Given the description of an element on the screen output the (x, y) to click on. 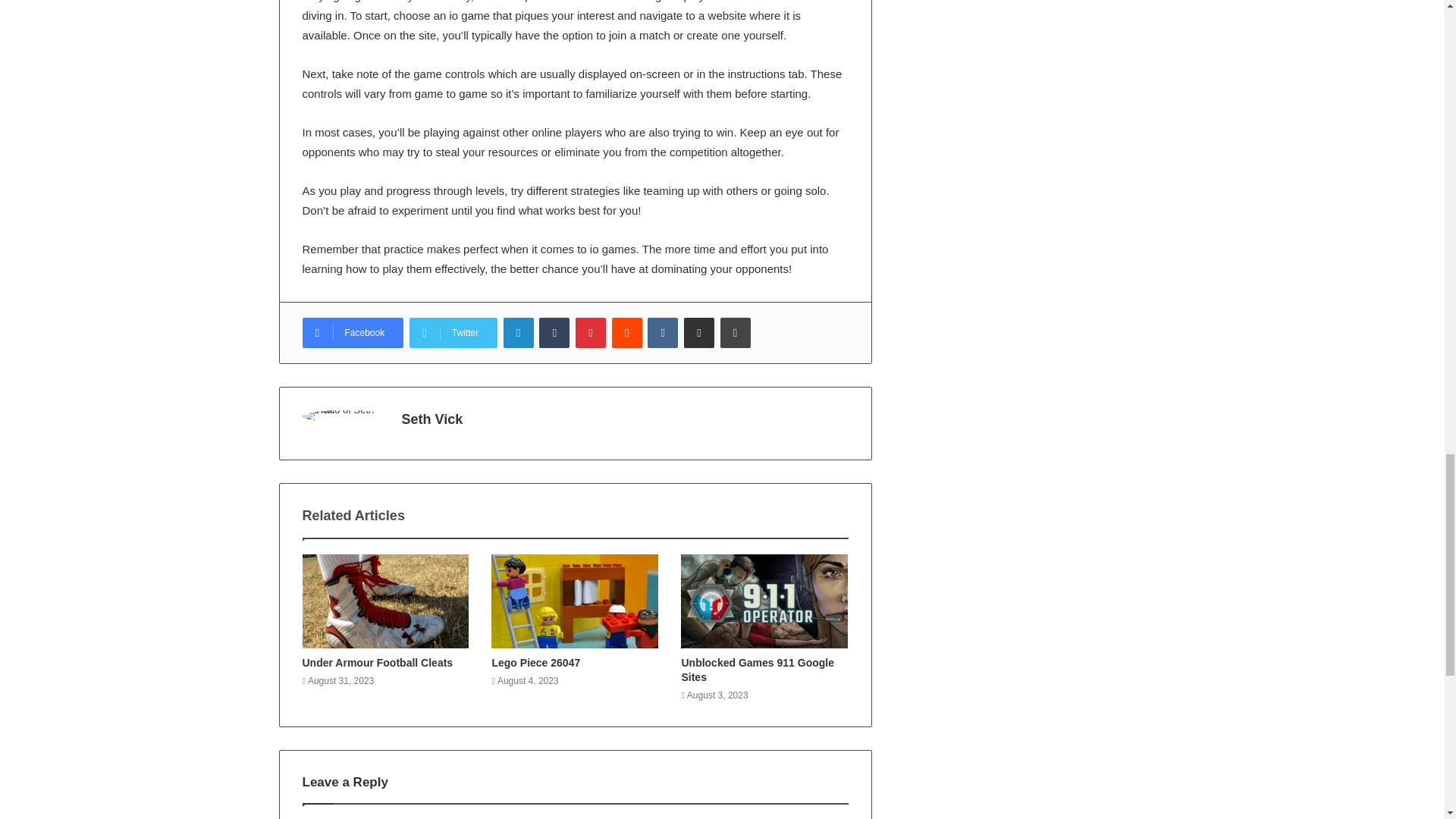
Facebook (352, 332)
Reddit (626, 332)
Tumblr (553, 332)
Twitter (453, 332)
Share via Email (699, 332)
Pinterest (590, 332)
VKontakte (662, 332)
Tumblr (553, 332)
Print (735, 332)
Share via Email (699, 332)
LinkedIn (518, 332)
Reddit (626, 332)
LinkedIn (518, 332)
Twitter (453, 332)
VKontakte (662, 332)
